Given the description of an element on the screen output the (x, y) to click on. 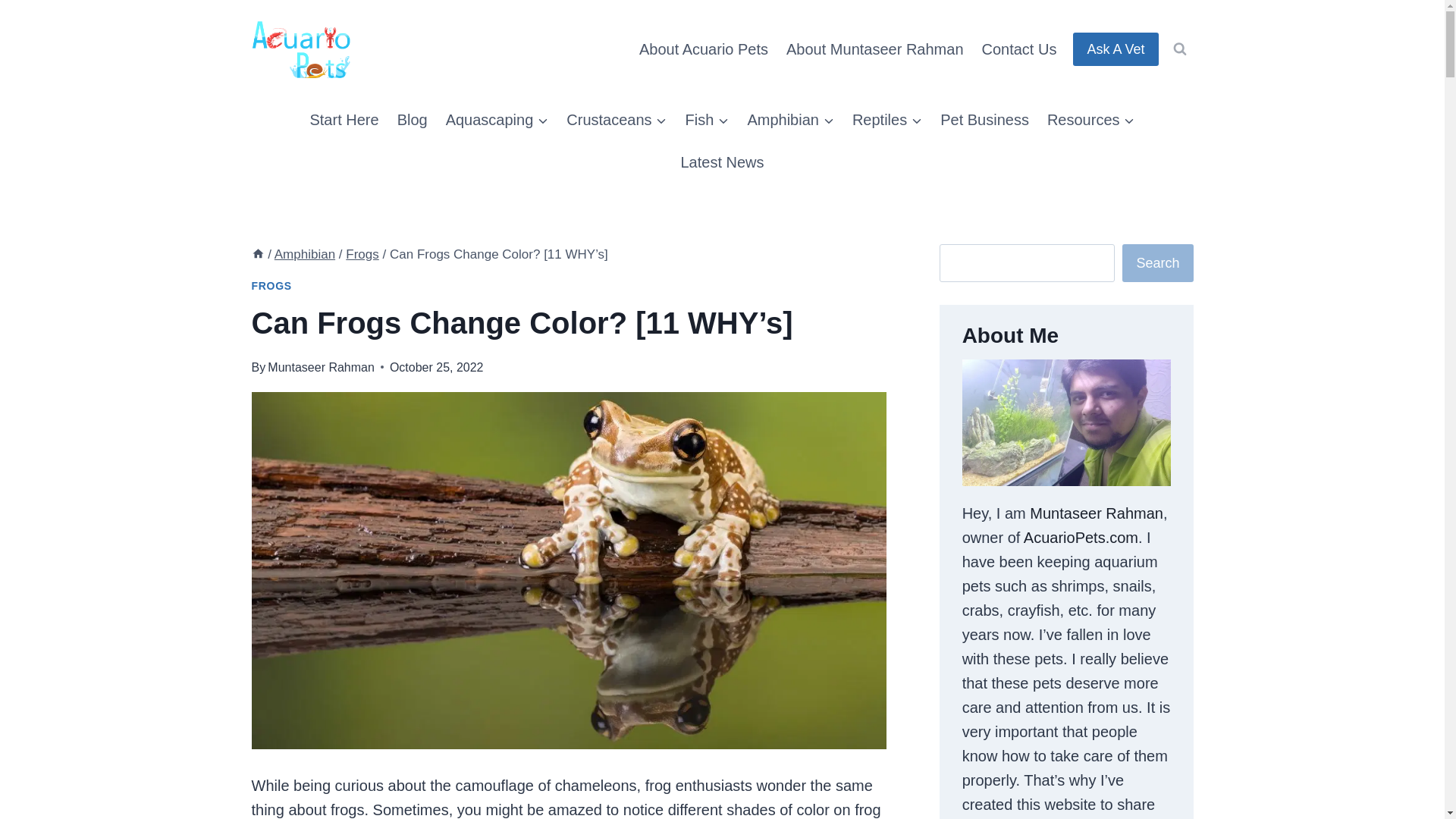
Amphibian (790, 119)
Reptiles (887, 119)
Aquascaping (496, 119)
About Acuario Pets (703, 48)
Ask A Vet (1115, 48)
Fish (707, 119)
About Muntaseer Rahman (874, 48)
Start Here (343, 119)
Contact Us (1018, 48)
Crustaceans (616, 119)
Blog (412, 119)
Home (257, 254)
